Given the description of an element on the screen output the (x, y) to click on. 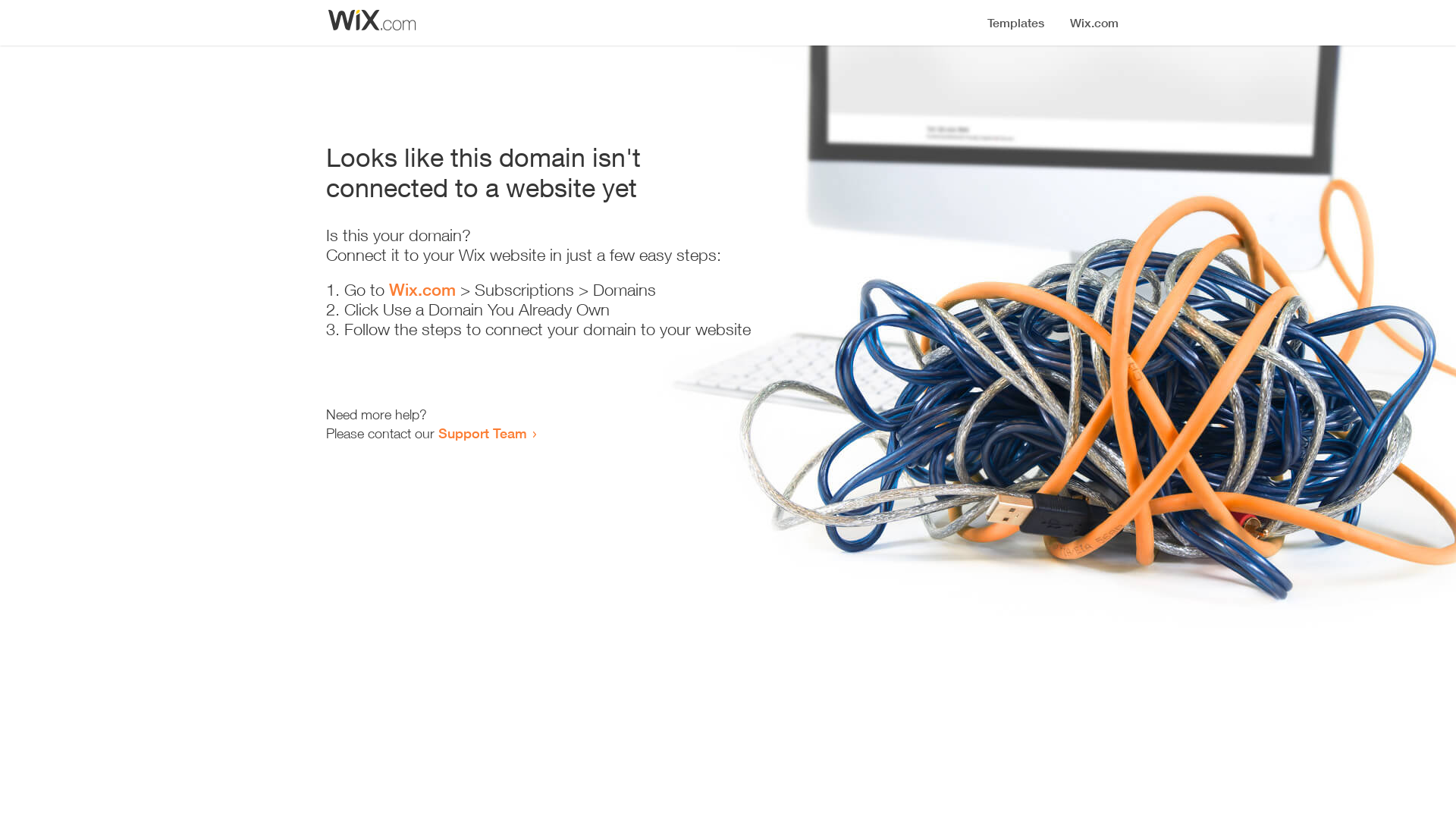
Wix.com Element type: text (422, 289)
Support Team Element type: text (482, 432)
